Given the description of an element on the screen output the (x, y) to click on. 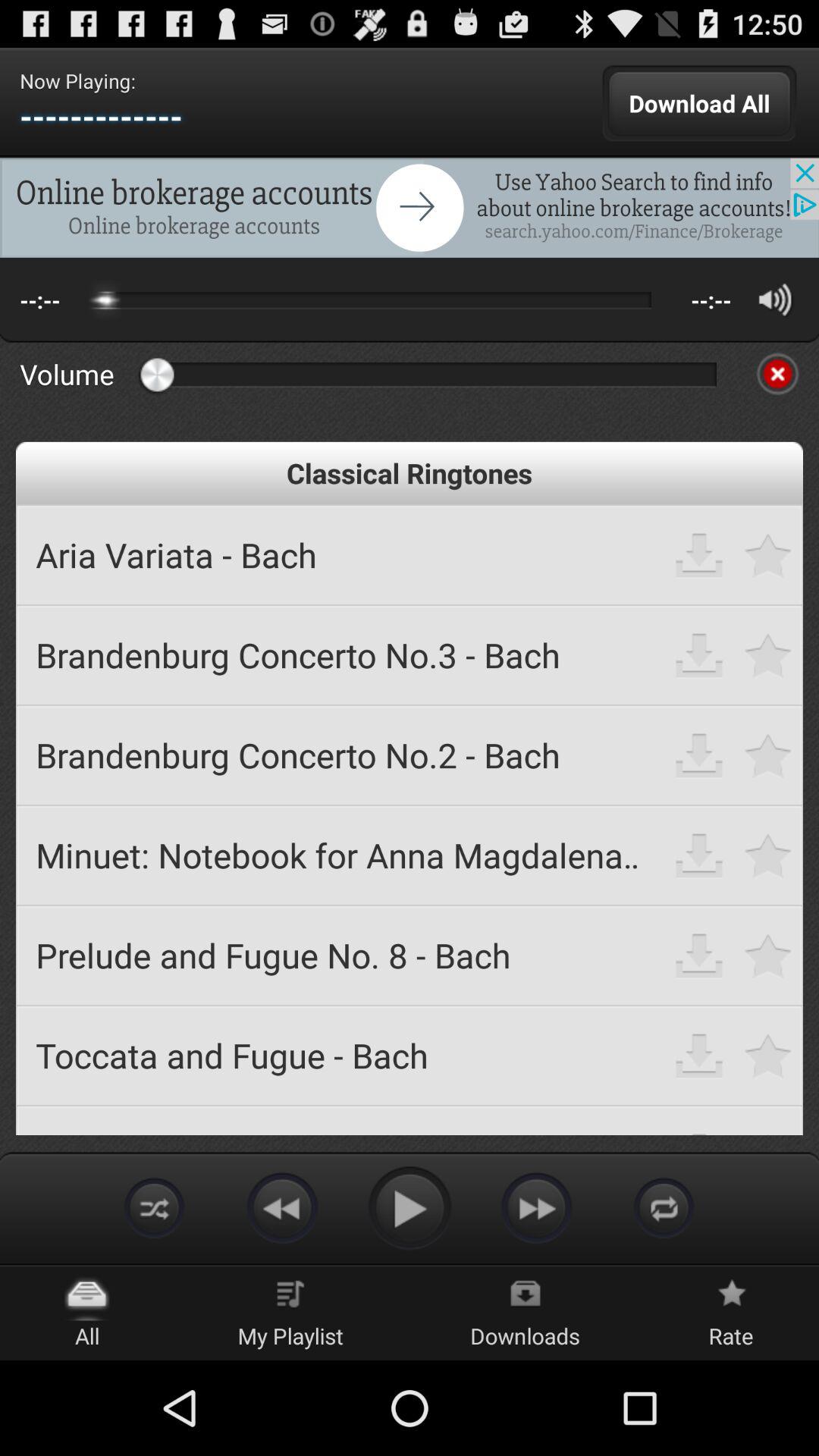
option to favorite ringtone (768, 1054)
